Given the description of an element on the screen output the (x, y) to click on. 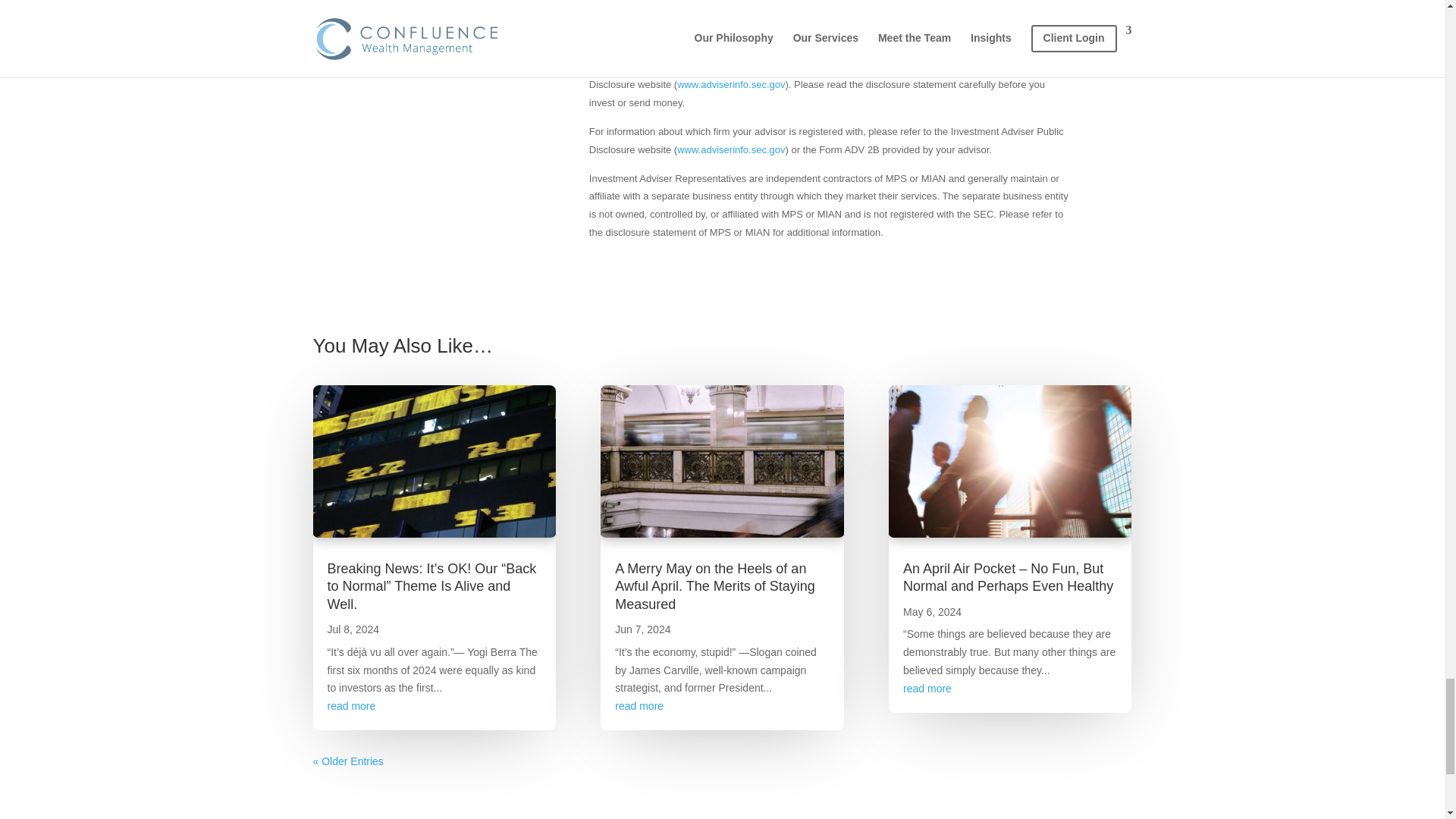
read more (927, 688)
read more (351, 705)
www.adviserinfo.sec.gov (730, 84)
www.adviserinfo.sec.gov (730, 149)
read more (638, 705)
